Given the description of an element on the screen output the (x, y) to click on. 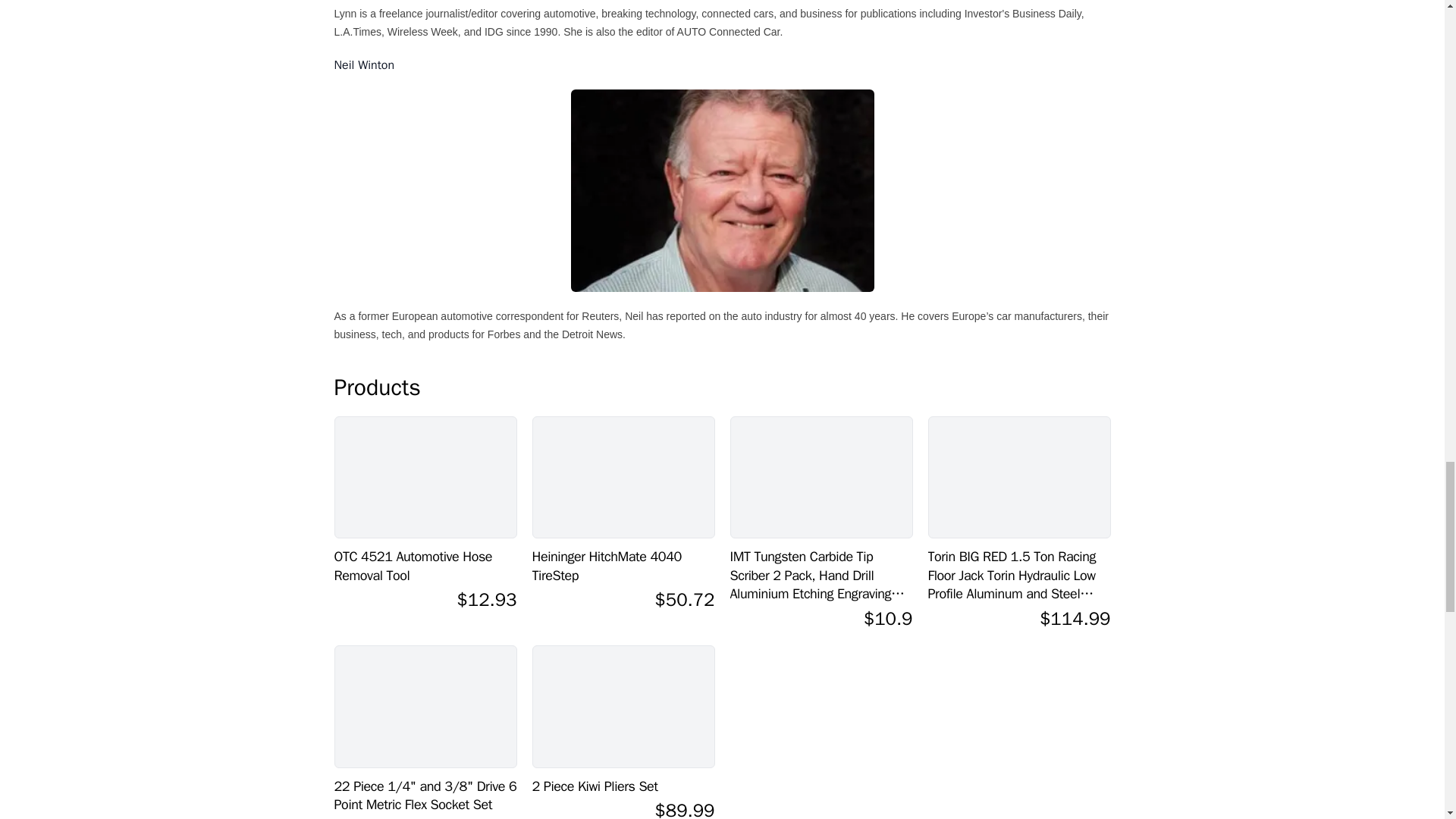
OTC 4521 Automotive Hose Removal Tool (424, 566)
Heininger HitchMate 4040 TireStep (623, 566)
OTC 4521 Automotive Hose Removal Tool (425, 476)
OTC 4521 Automotive Hose Removal Tool (424, 566)
Heininger HitchMate 4040 TireStep (622, 476)
Heininger HitchMate 4040 TireStep (623, 566)
2 Piece Kiwi Pliers Set (623, 786)
neil-wintonjpeg.jpg (721, 190)
